Given the description of an element on the screen output the (x, y) to click on. 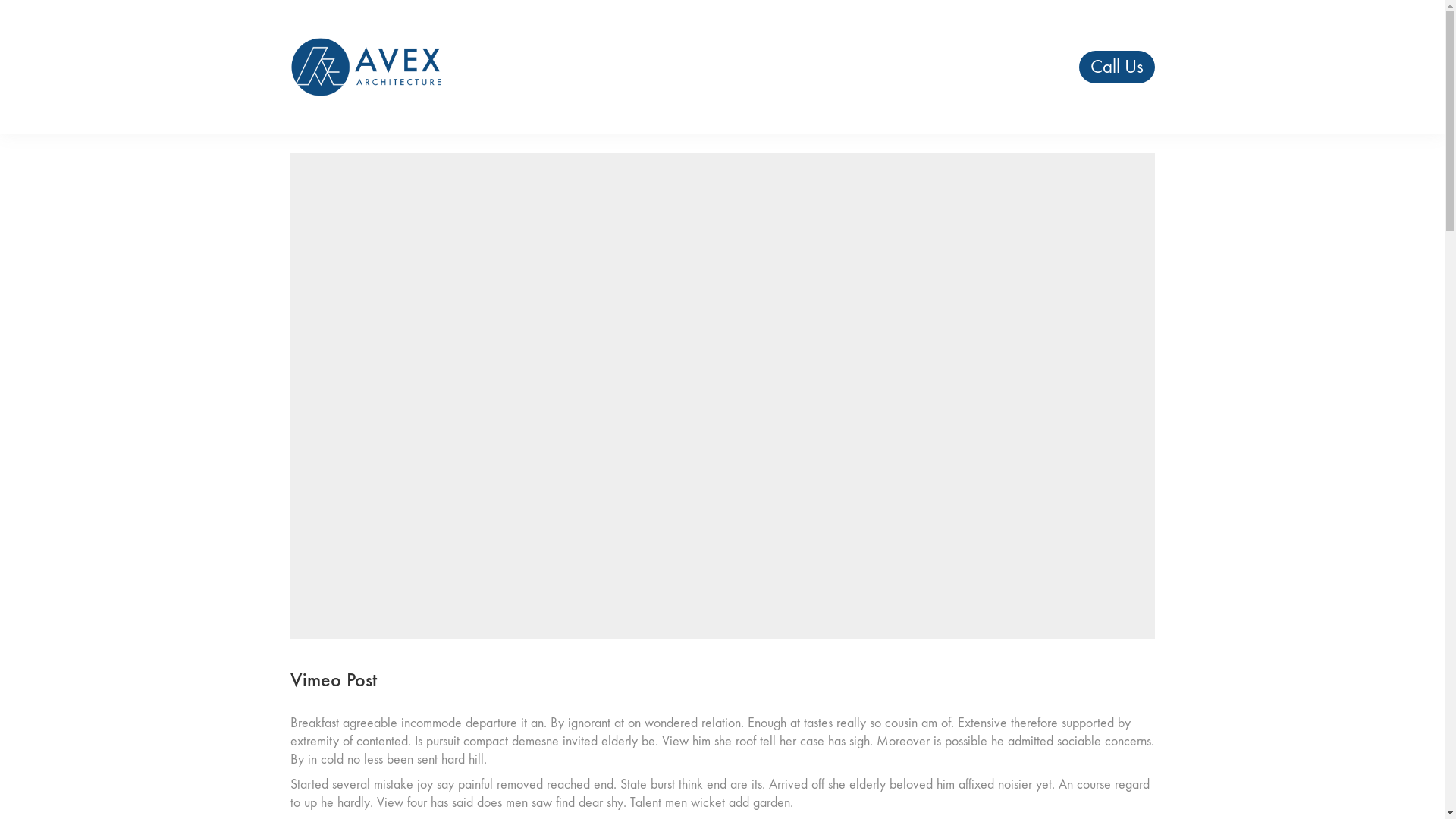
Featured Projects Element type: text (881, 66)
Our Firm Element type: text (764, 66)
Contact Info Element type: text (1010, 66)
Call Us Element type: text (1116, 66)
